Given the description of an element on the screen output the (x, y) to click on. 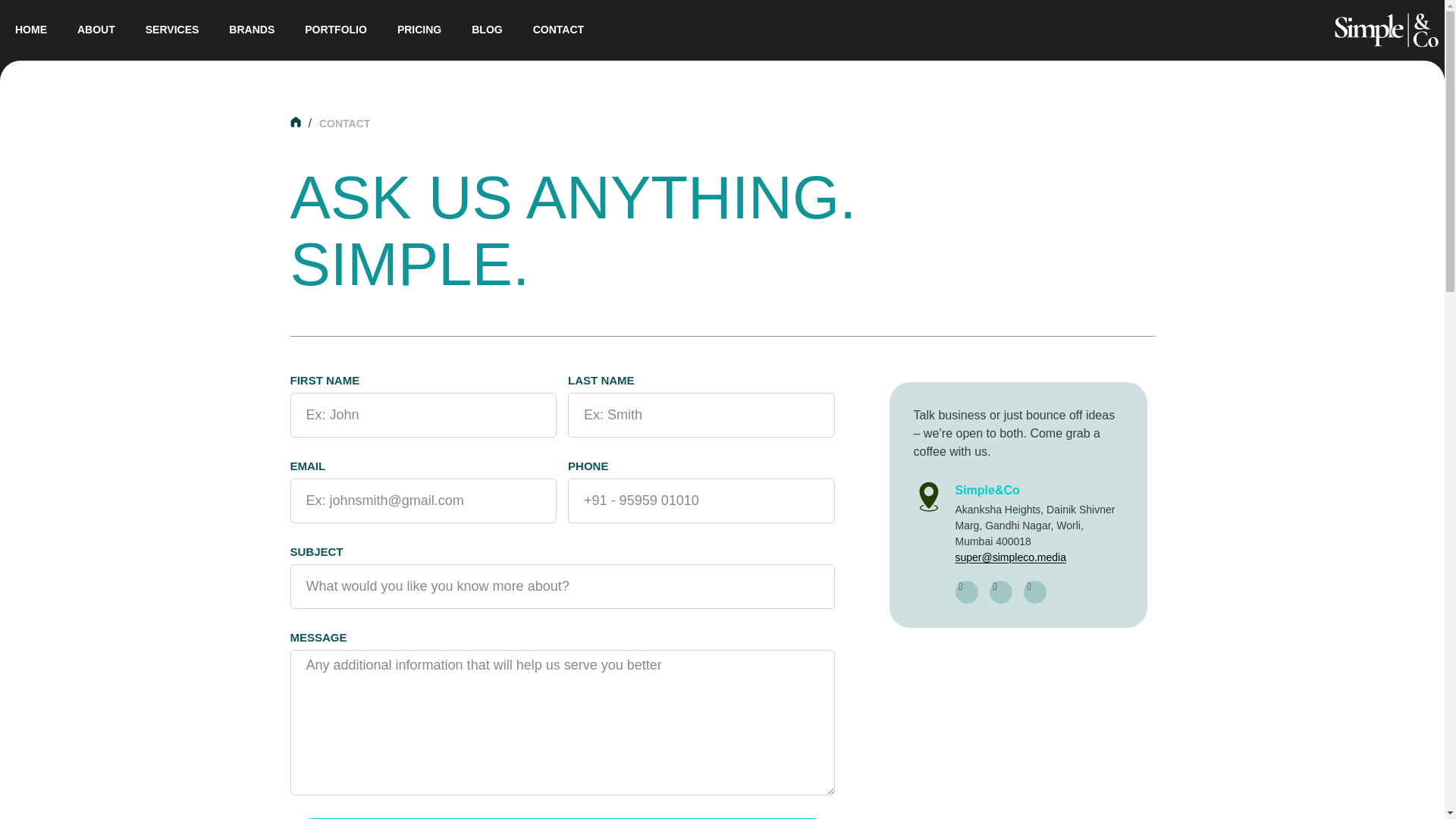
Contact (343, 123)
CONTACT (558, 29)
PORTFOLIO (335, 29)
SERVICES (172, 29)
PRICING (419, 29)
ABOUT (96, 29)
BRANDS (251, 29)
BLOG (486, 29)
HOME (31, 29)
